Given the description of an element on the screen output the (x, y) to click on. 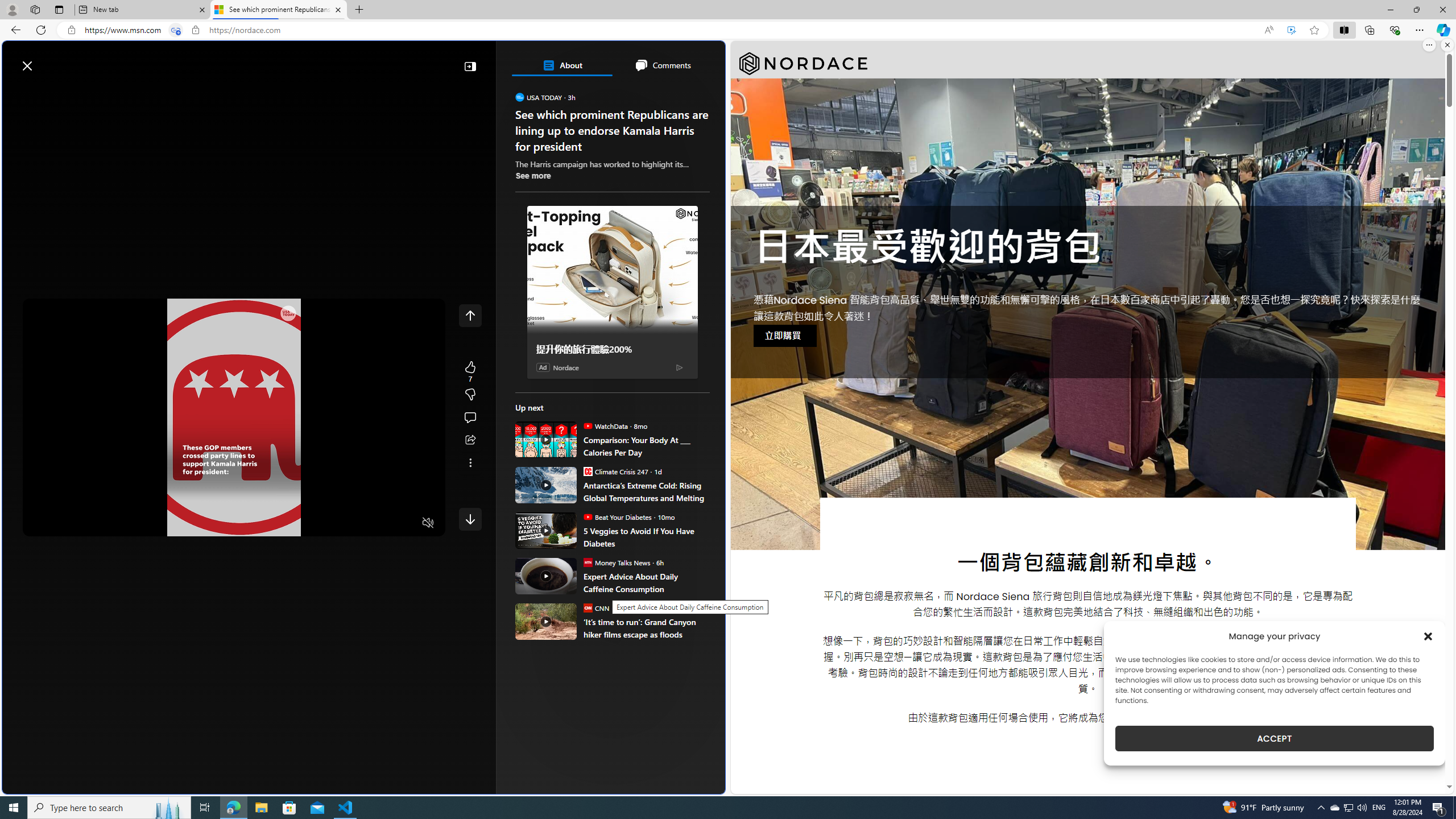
Beat Your Diabetes (587, 516)
Enhance video (1291, 29)
Class: control (469, 518)
5 Veggies to Avoid If You Have Diabetes (545, 529)
Share this story (469, 440)
Love dogs? We do, too. (616, 219)
Close split screen. (1447, 45)
WatchData WatchData (604, 425)
ACCEPT (1274, 738)
Expert Advice About Daily Caffeine Consumption (545, 575)
